Given the description of an element on the screen output the (x, y) to click on. 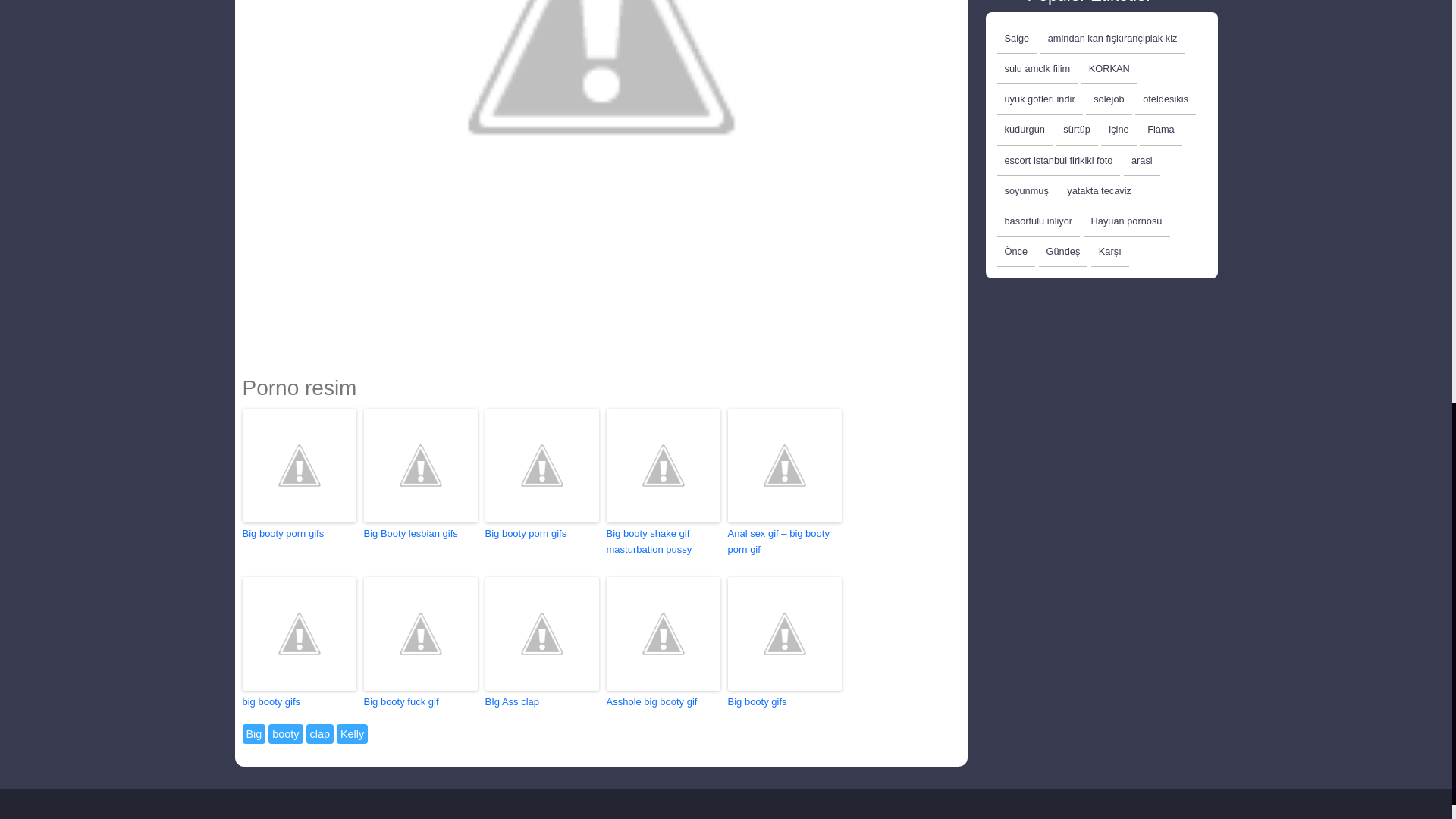
booty (284, 733)
Kelly (352, 733)
Big Booty lesbian gifs (420, 534)
Big booty gifs (784, 702)
Big booty shake gif masturbation pussy (663, 541)
Big (254, 733)
big booty gifs (299, 702)
Big booty porn gifs (541, 534)
clap (319, 733)
Big booty fuck gif (420, 702)
